Given the description of an element on the screen output the (x, y) to click on. 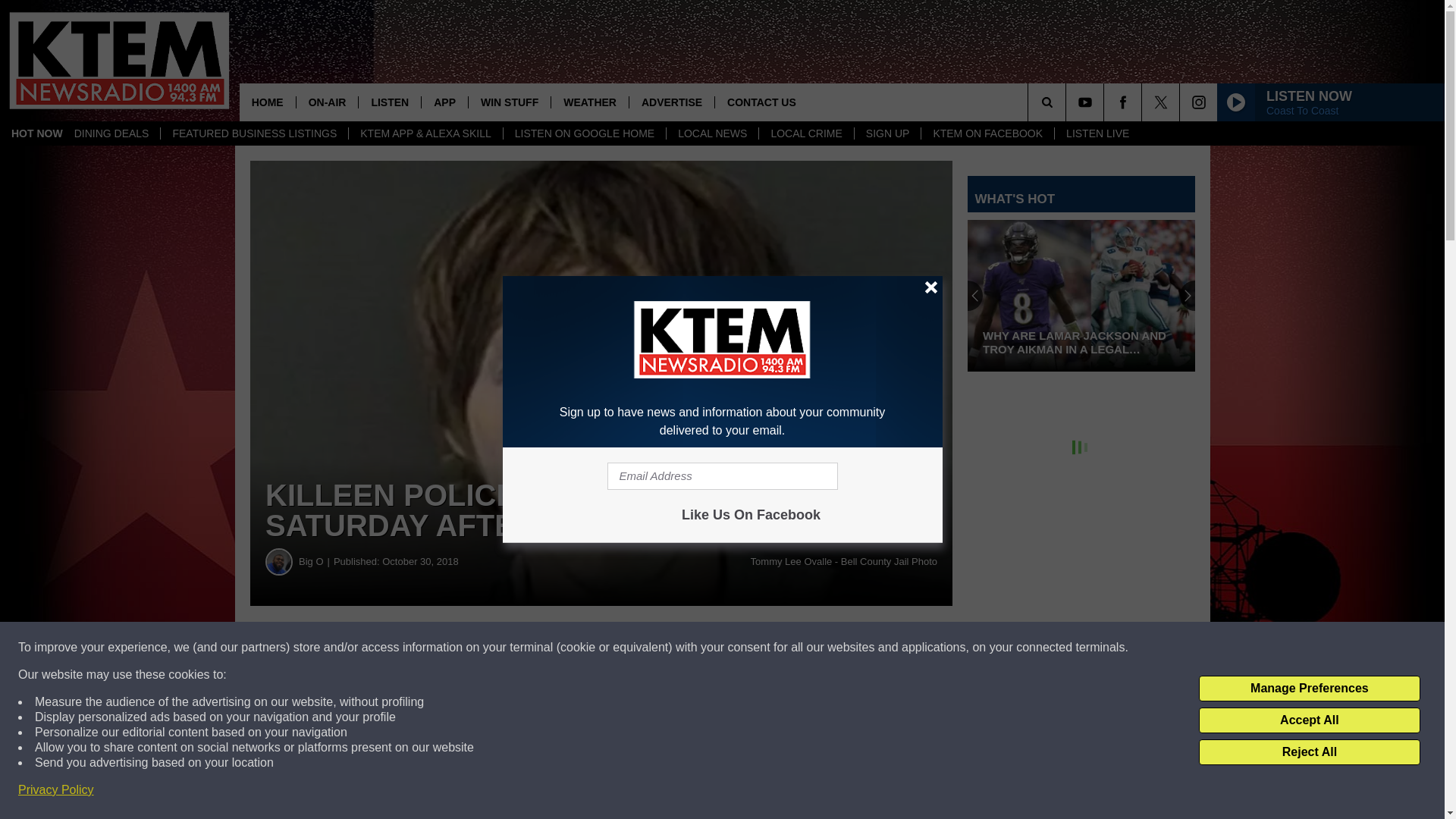
ADVERTISE (671, 102)
APP (443, 102)
HOME (267, 102)
FEATURED BUSINESS LISTINGS (253, 133)
ON-AIR (326, 102)
KTEM ON FACEBOOK (987, 133)
WEATHER (589, 102)
Privacy Policy (55, 789)
LISTEN ON GOOGLE HOME (583, 133)
LOCAL CRIME (805, 133)
Reject All (1309, 751)
SEARCH (1068, 102)
Email Address (722, 475)
LISTEN (389, 102)
Share on Facebook (460, 647)
